Given the description of an element on the screen output the (x, y) to click on. 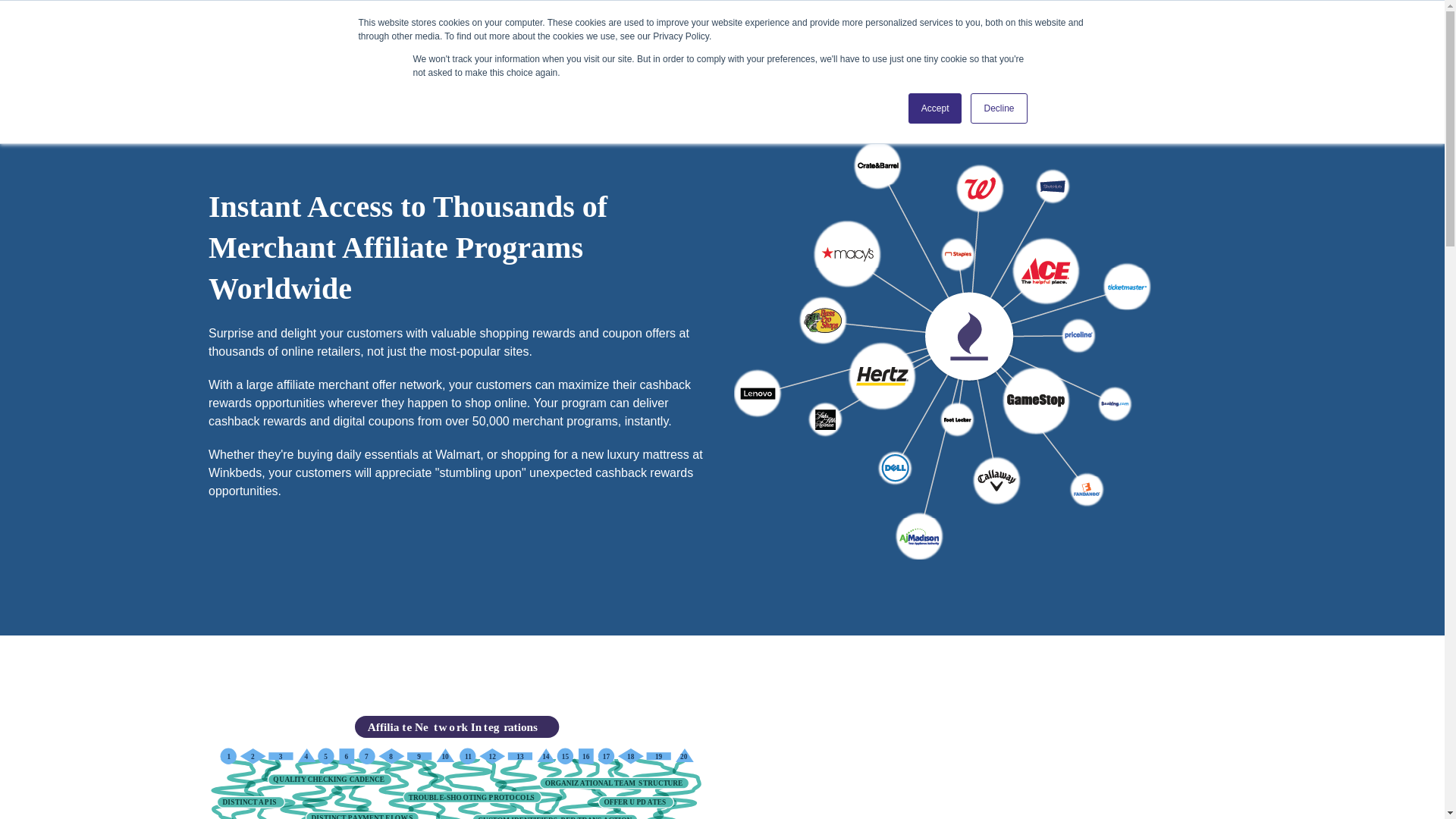
Company (579, 38)
Decline (998, 108)
Network (910, 38)
Features (454, 38)
Accept (935, 108)
Features (848, 38)
Resources (703, 38)
Company (974, 38)
Pricing (640, 38)
Network (515, 38)
Contact us (1197, 39)
